Given the description of an element on the screen output the (x, y) to click on. 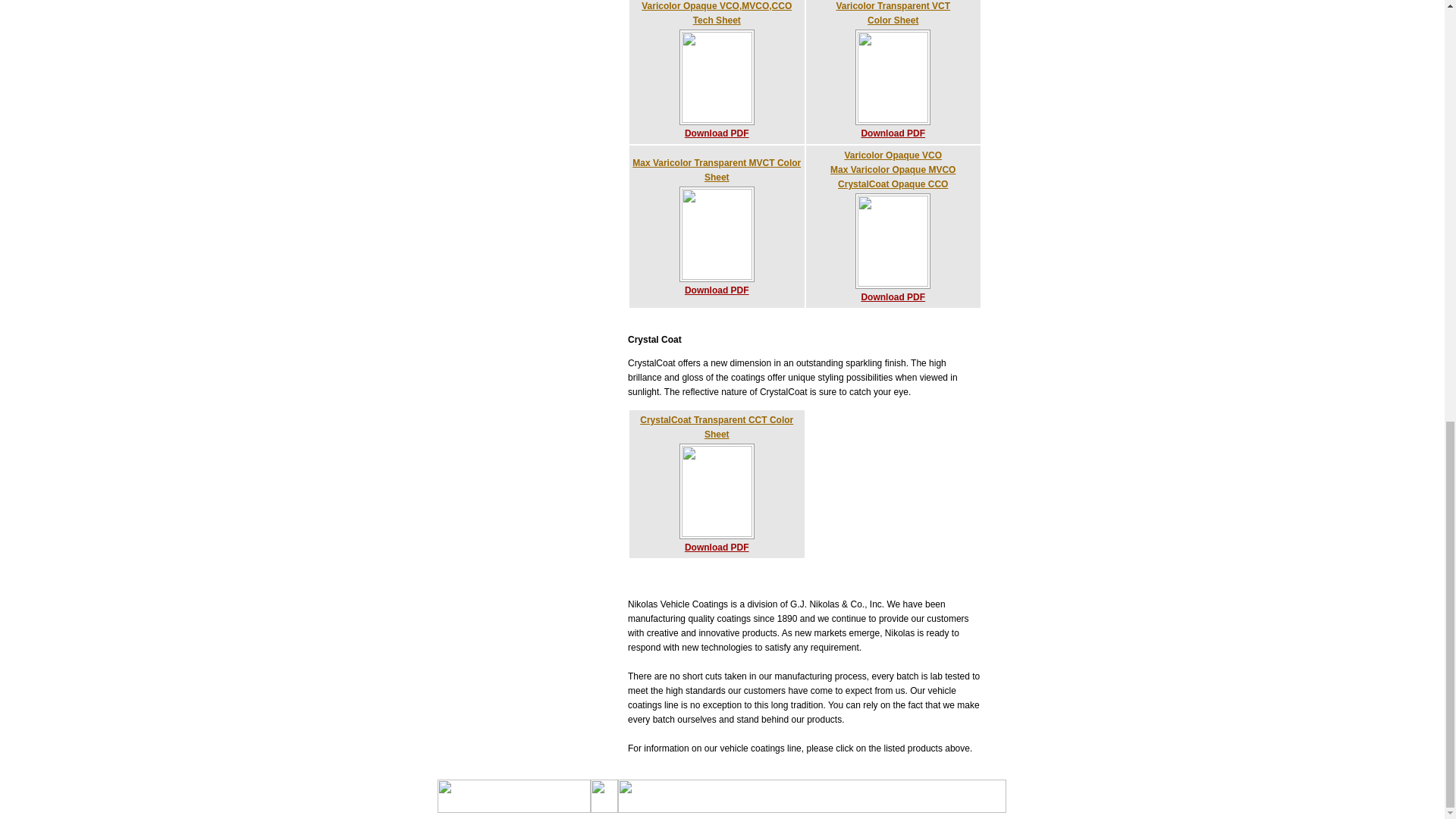
Max Varicolor Transparent MVCT Color Sheet (715, 169)
Download PDF (716, 132)
Download PDF (716, 547)
CrystalCoat Transparent CCT Color Sheet (892, 12)
Download PDF (716, 426)
Download PDF (892, 296)
Download PDF (716, 289)
Varicolor Opaque VCO,MVCO,CCO Tech Sheet (892, 132)
